Given the description of an element on the screen output the (x, y) to click on. 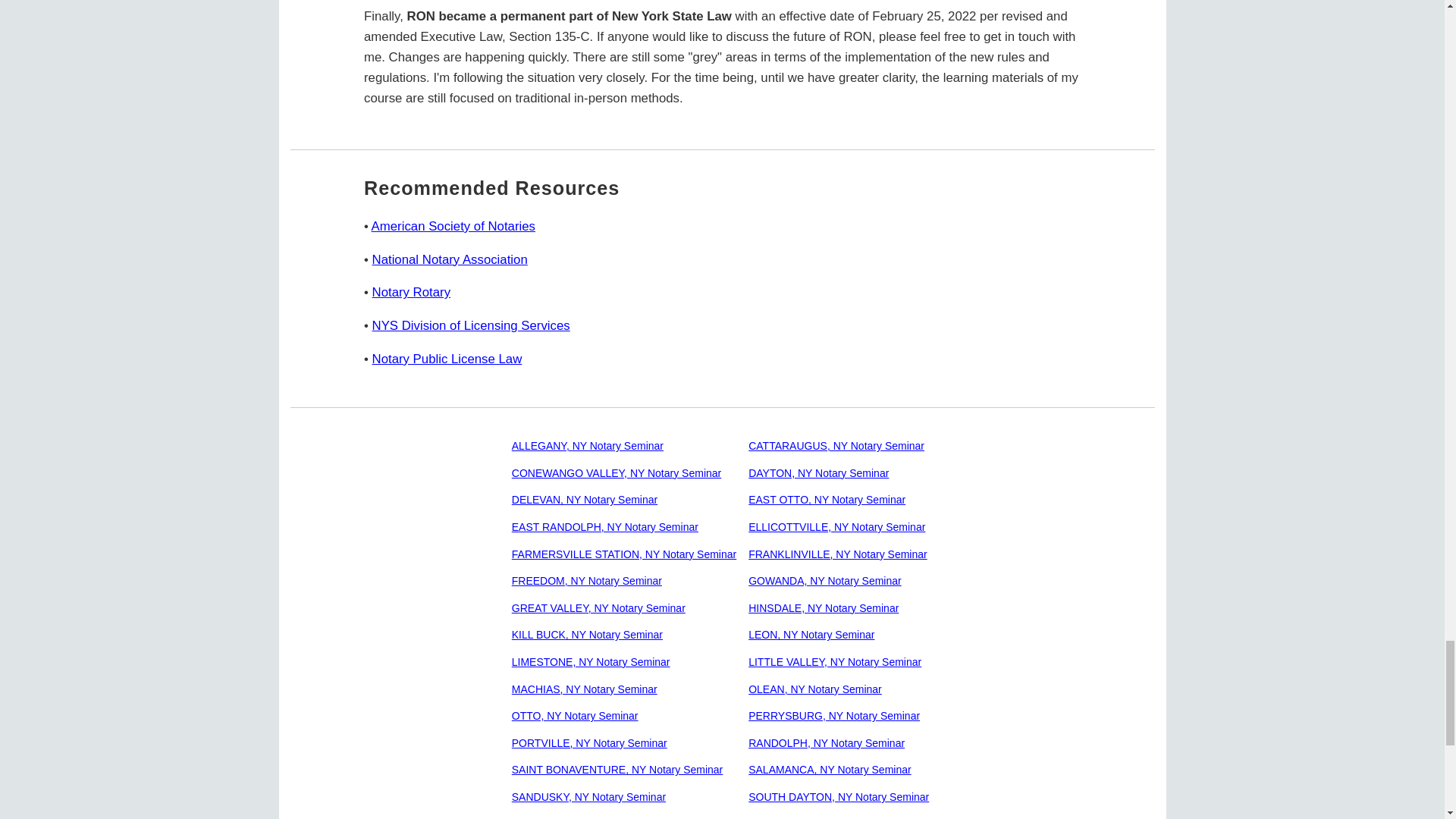
American Society of Notaries (453, 226)
DELEVAN, NY Notary Seminar (585, 499)
Notary Rotary (411, 292)
EAST RANDOLPH, NY Notary Seminar (605, 526)
National Notary Association (449, 259)
FARMERSVILLE STATION, NY Notary Seminar (624, 553)
ALLEGANY, NY Notary Seminar (587, 445)
DAYTON, NY Notary Seminar (818, 472)
CONEWANGO VALLEY, NY Notary Seminar (616, 472)
FREEDOM, NY Notary Seminar (587, 580)
FRANKLINVILLE, NY Notary Seminar (837, 553)
Notary Public License Law (447, 359)
EAST OTTO, NY Notary Seminar (826, 499)
NYS Division of Licensing Services (471, 325)
ELLICOTTVILLE, NY Notary Seminar (836, 526)
